Given the description of an element on the screen output the (x, y) to click on. 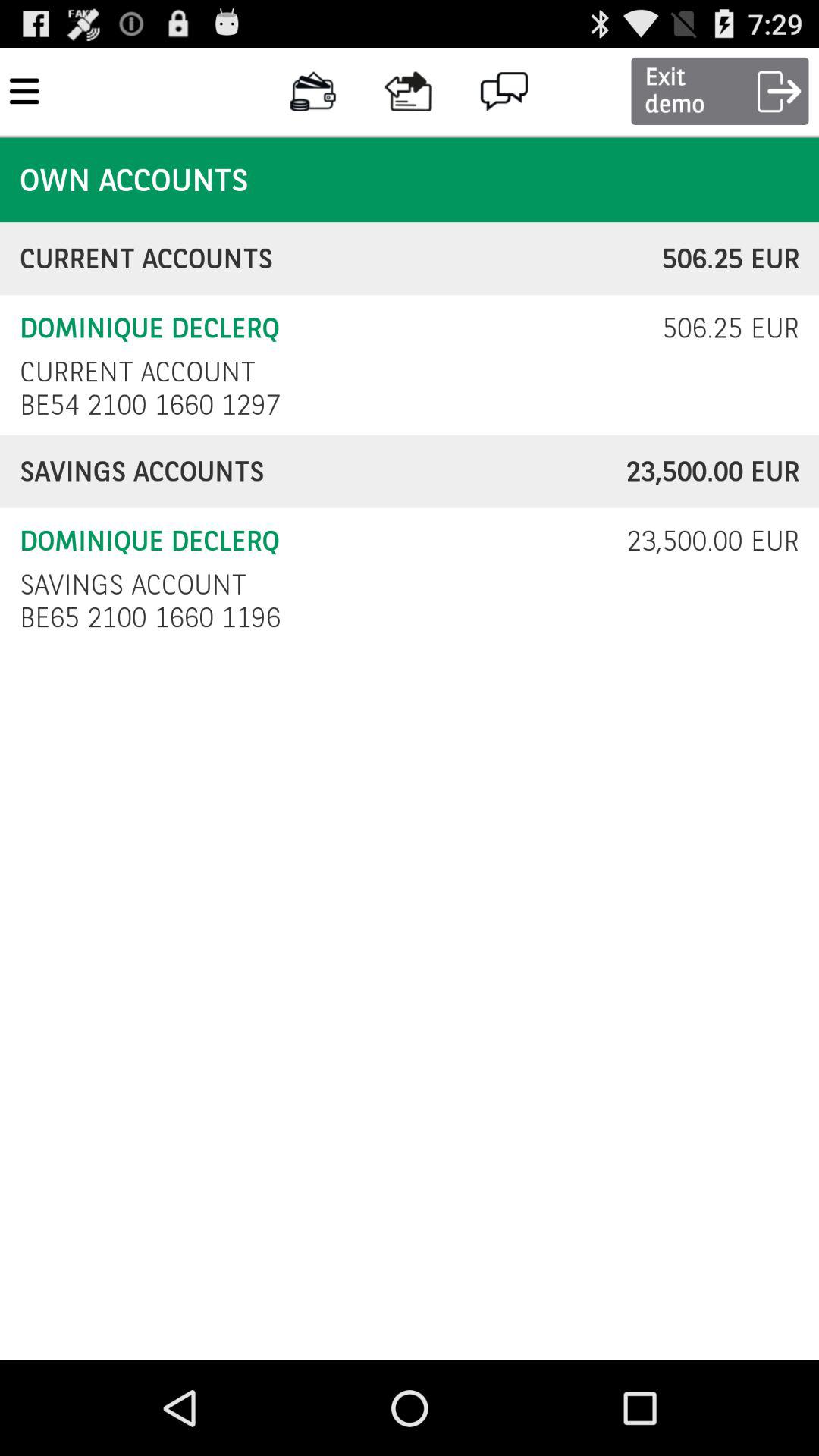
open the icon next to the 23 500 00 (132, 584)
